Given the description of an element on the screen output the (x, y) to click on. 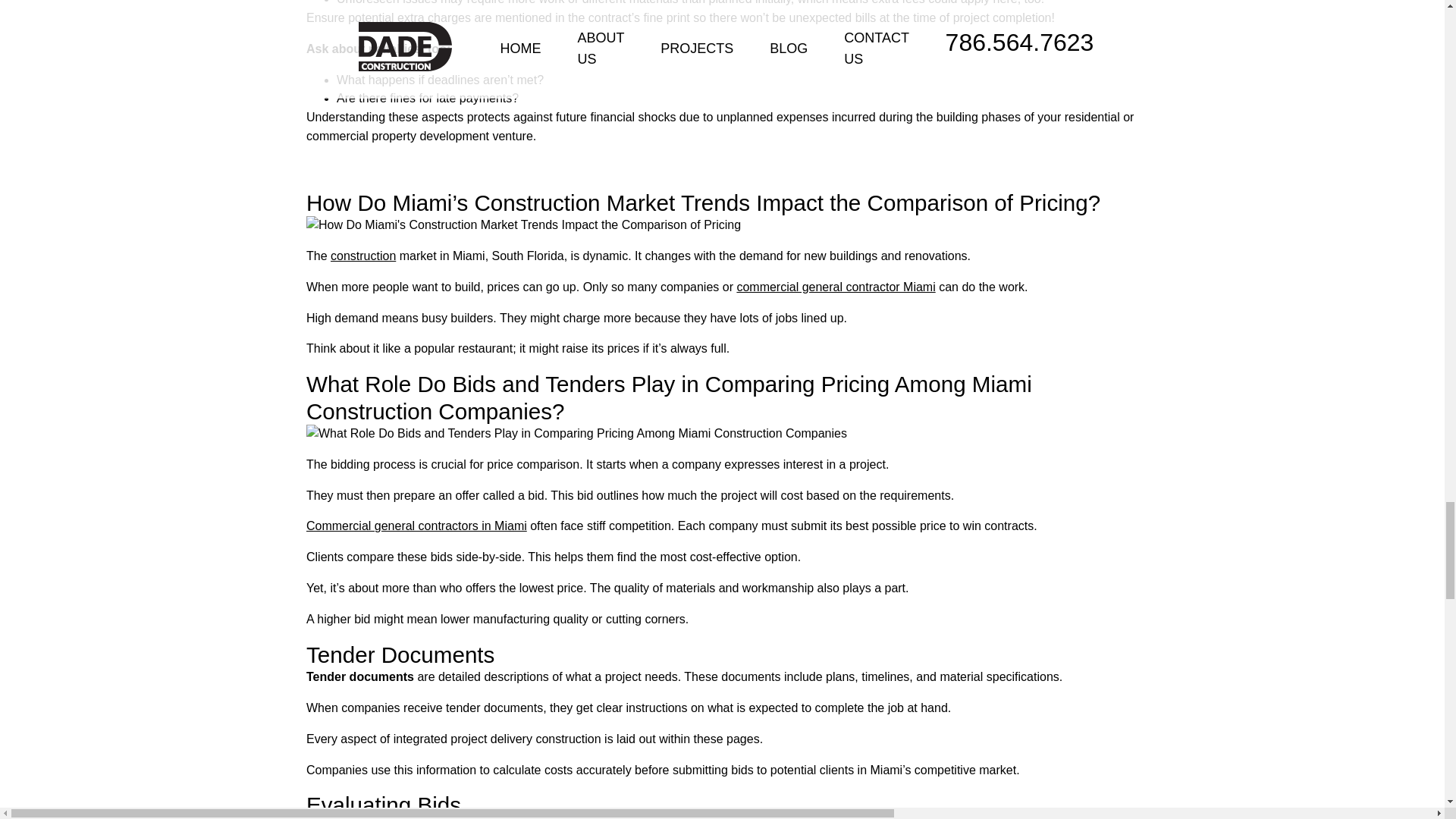
commercial general contractor Miami (835, 286)
Commercial general contractors in Miami (416, 525)
construction (363, 255)
